Given the description of an element on the screen output the (x, y) to click on. 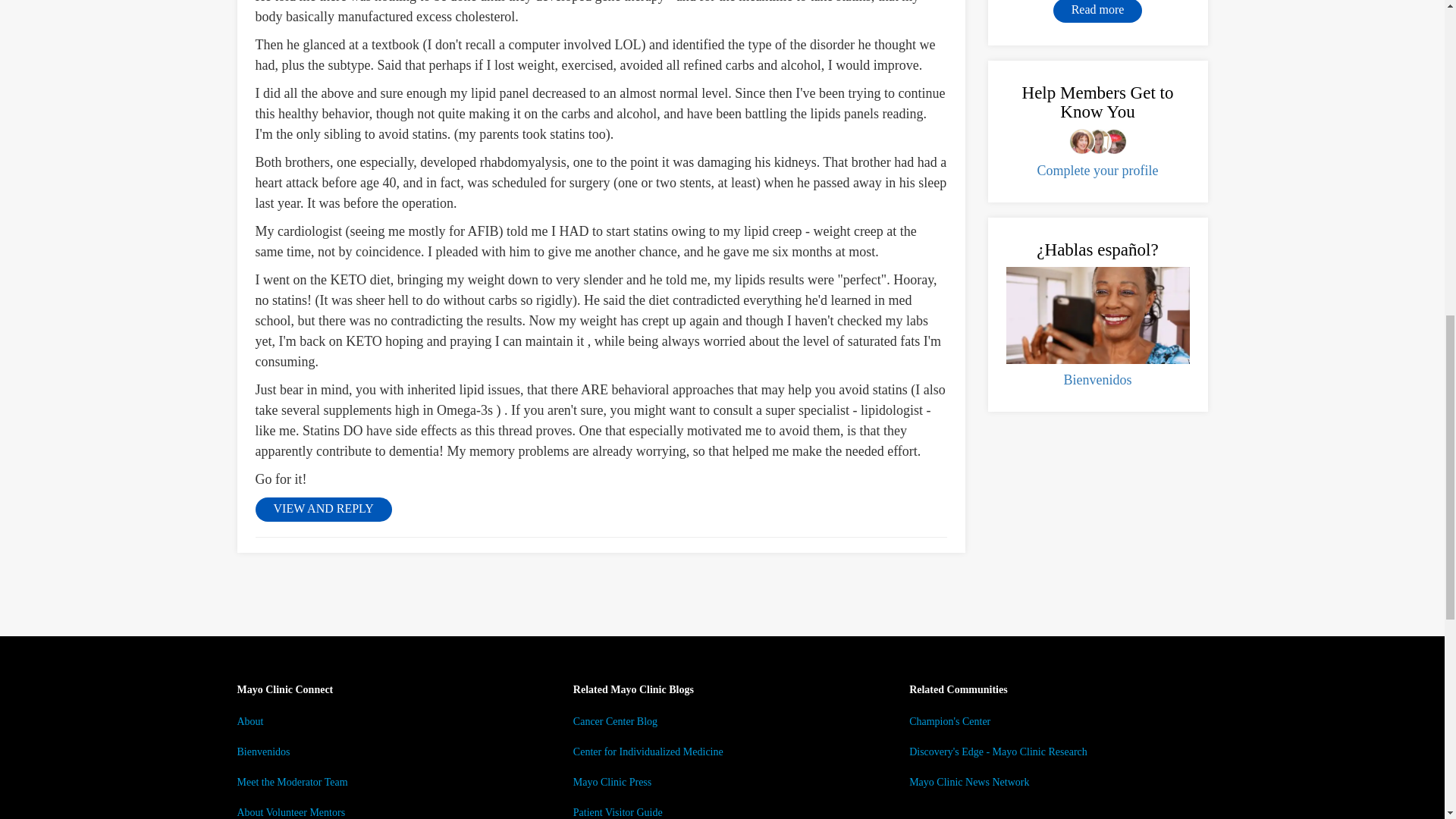
Patient Visitor Guide (617, 812)
Mayo Clinic Press (611, 781)
VIEW AND REPLY (322, 509)
Bienvenidos (1096, 379)
Bienvenidos (262, 751)
Complete your profile (1097, 170)
Cancer Center Blog (615, 721)
Mayo Clinic News Network (968, 781)
Meet the Moderator Team (291, 781)
Champion's Center (949, 721)
Center for Individualized Medicine (648, 751)
About (249, 721)
Read more (1097, 11)
About Volunteer Mentors (290, 812)
Discovery's Edge - Mayo Clinic Research (997, 751)
